Given the description of an element on the screen output the (x, y) to click on. 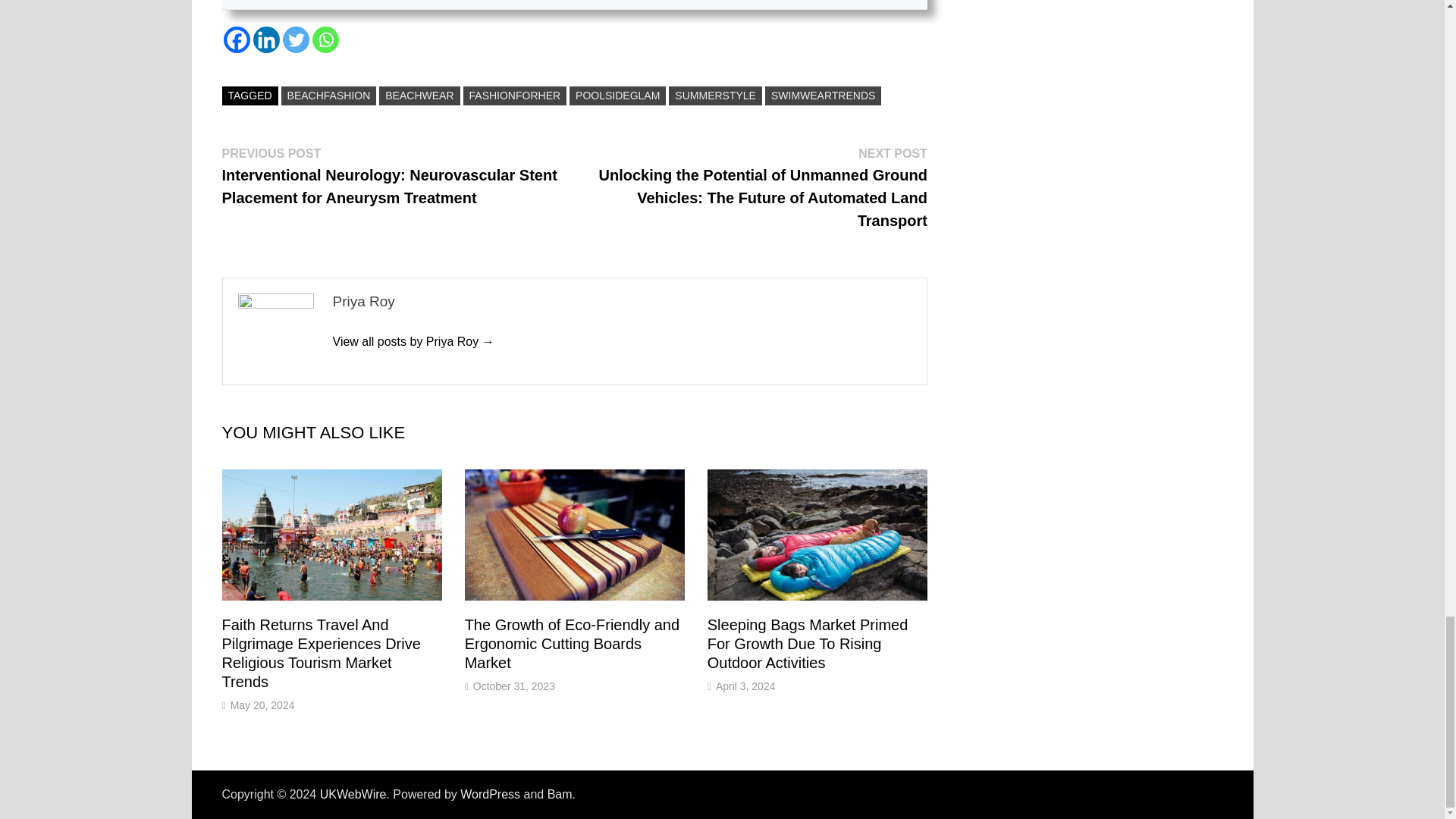
UKWebWire (353, 793)
Priya Roy (412, 341)
Whatsapp (326, 39)
Facebook (235, 39)
Linkedin (266, 39)
Twitter (295, 39)
